Given the description of an element on the screen output the (x, y) to click on. 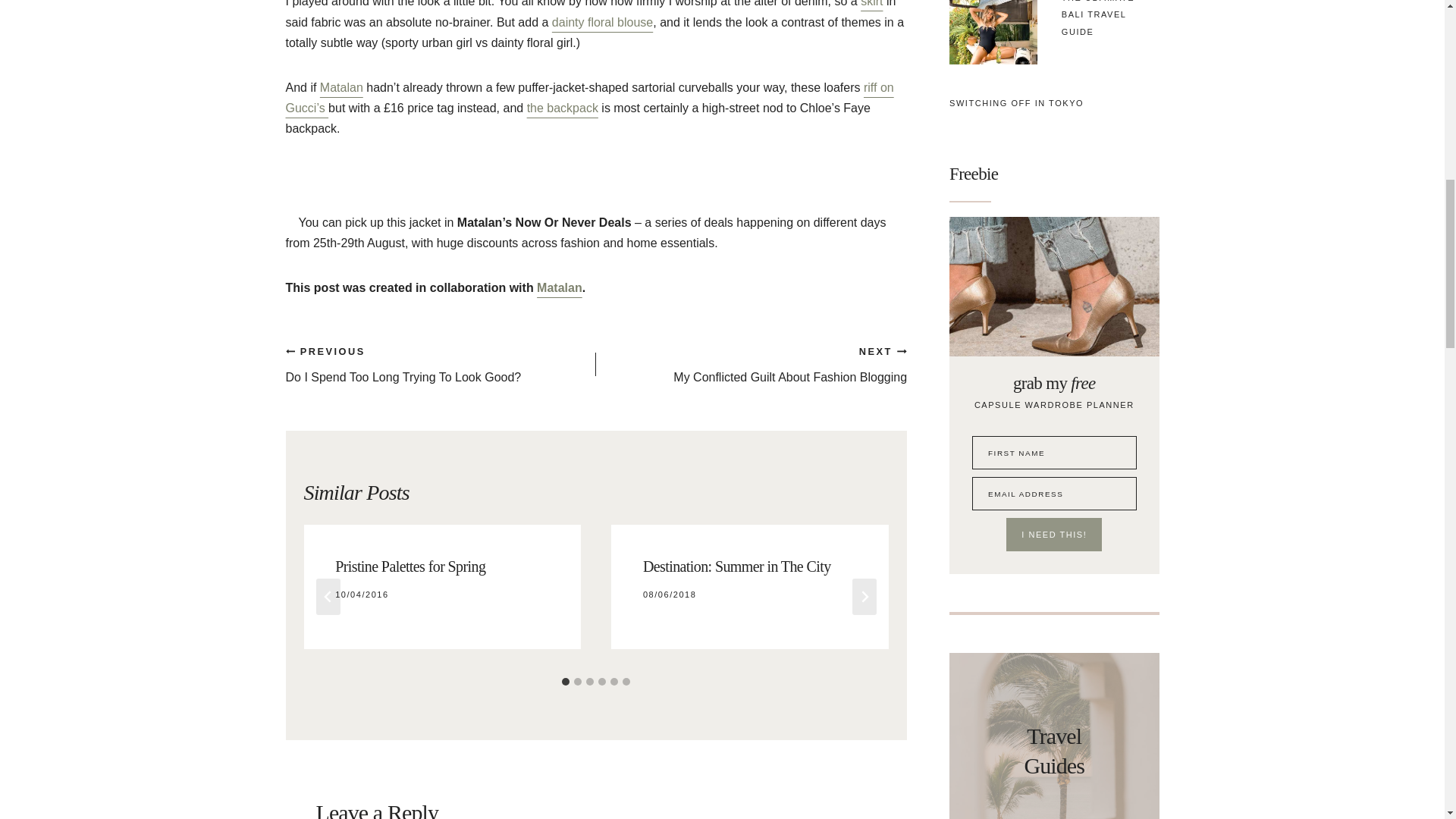
skirt (871, 3)
Matalan (559, 287)
Matalan (440, 363)
the backpack (751, 363)
dainty floral blouse (341, 87)
